Given the description of an element on the screen output the (x, y) to click on. 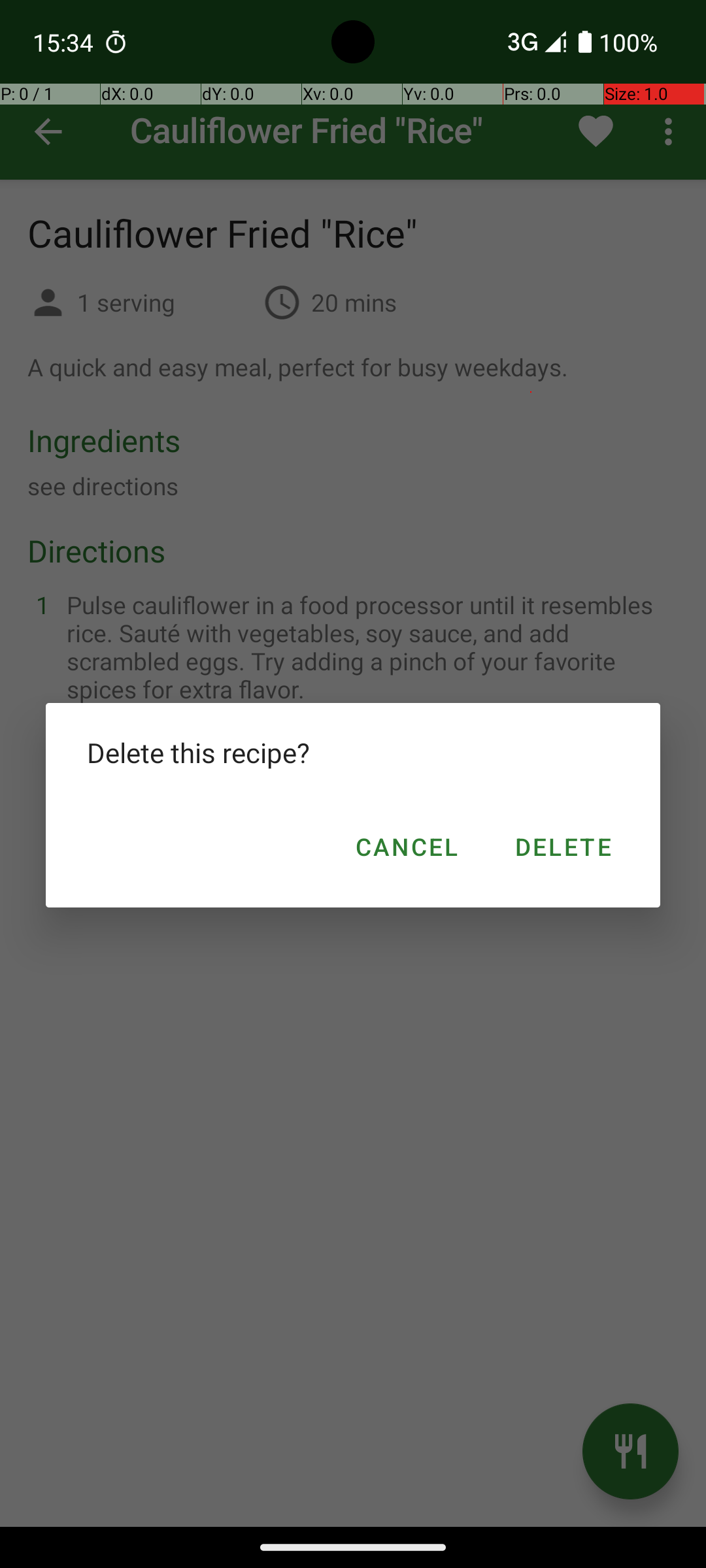
Delete this recipe? Element type: android.widget.TextView (352, 751)
DELETE Element type: android.widget.Button (562, 846)
